Given the description of an element on the screen output the (x, y) to click on. 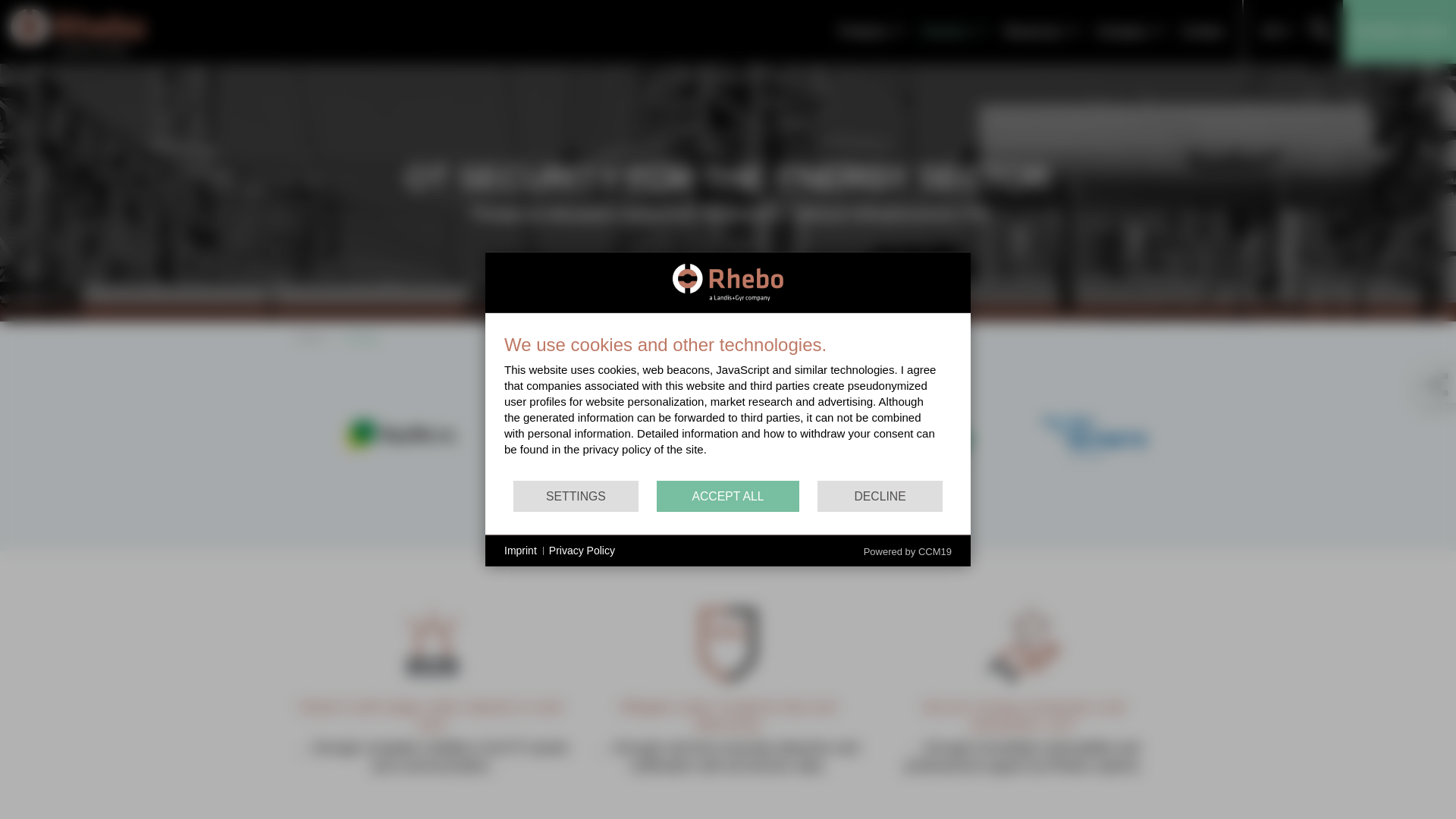
Contact (1201, 31)
Home (77, 31)
